Given the description of an element on the screen output the (x, y) to click on. 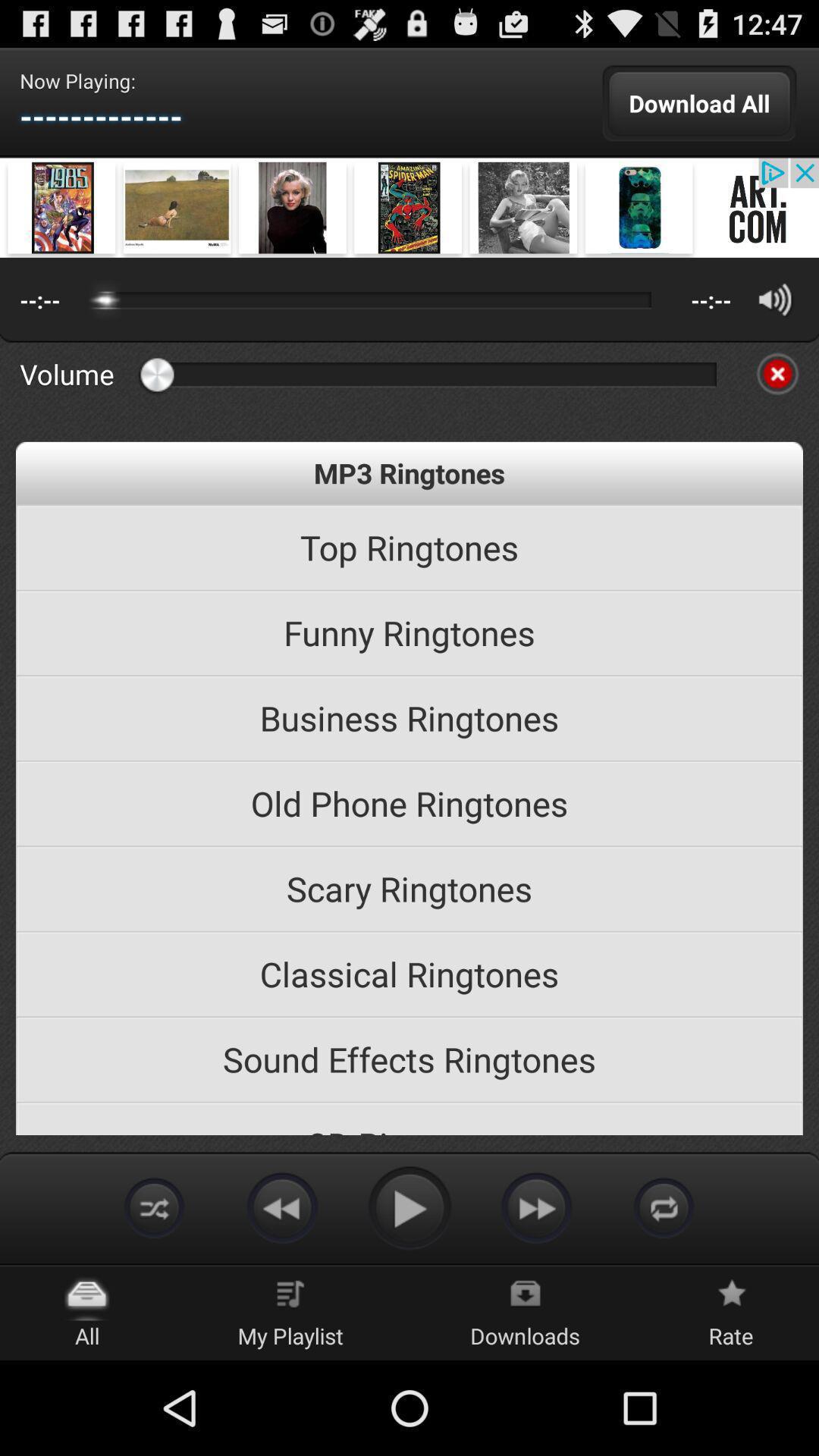
skip ahead (536, 1207)
